Given the description of an element on the screen output the (x, y) to click on. 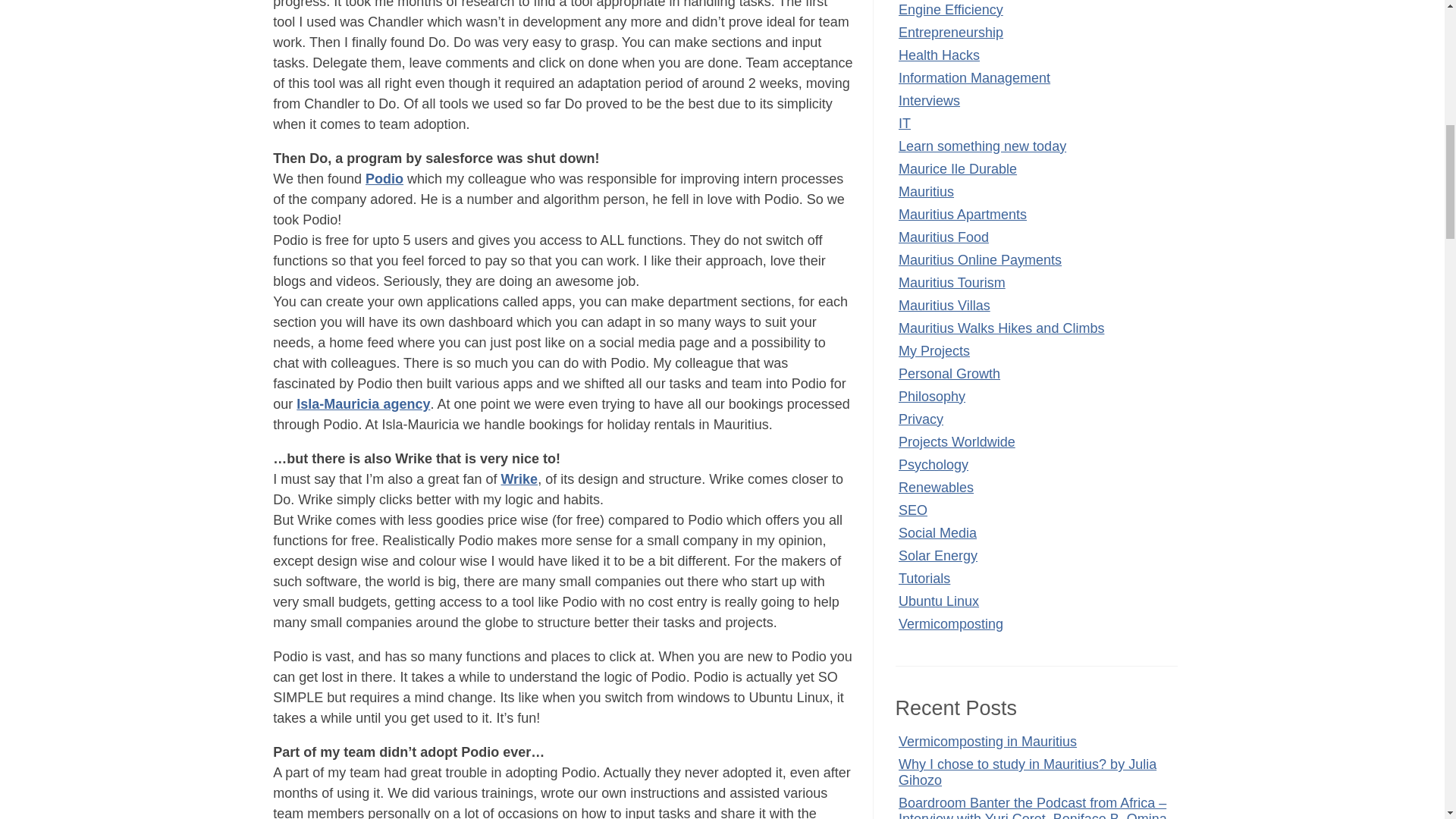
Wrike (518, 478)
Podio (384, 178)
Isla-Mauricia Holiday Rentals Agency (363, 403)
